Given the description of an element on the screen output the (x, y) to click on. 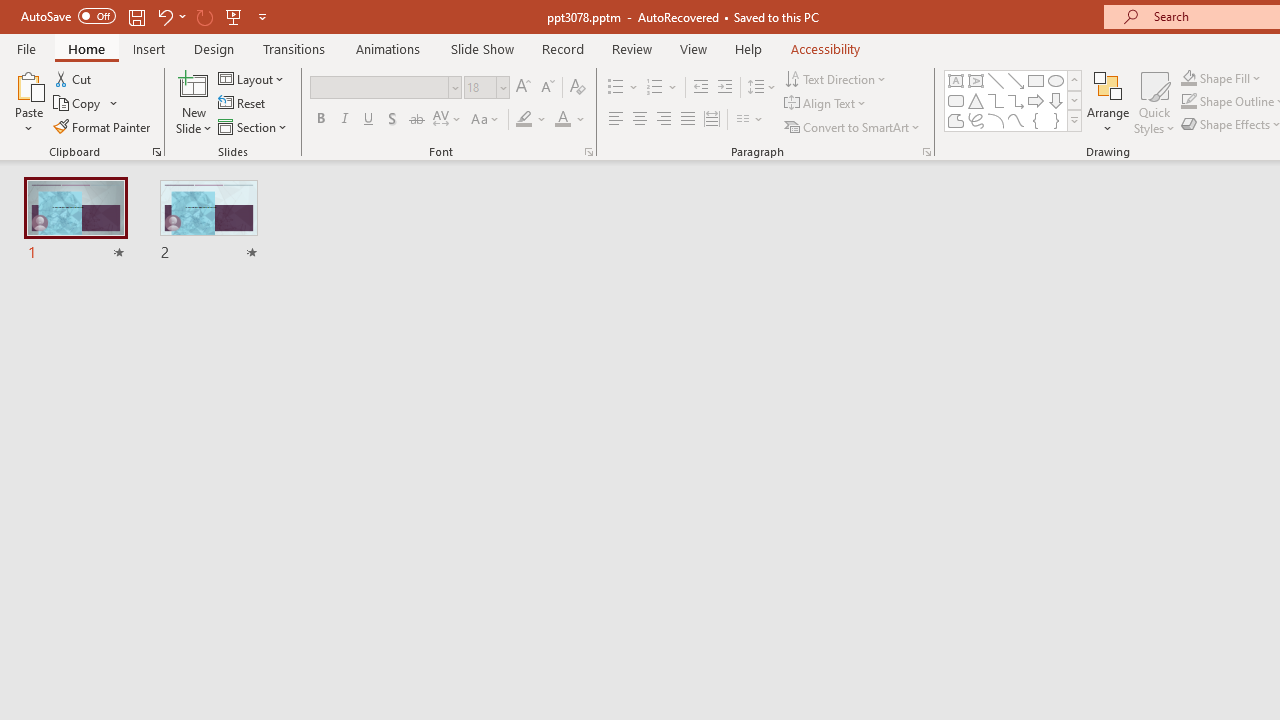
Bold (320, 119)
Character Spacing (447, 119)
Cut (73, 78)
Align Left (616, 119)
